Given the description of an element on the screen output the (x, y) to click on. 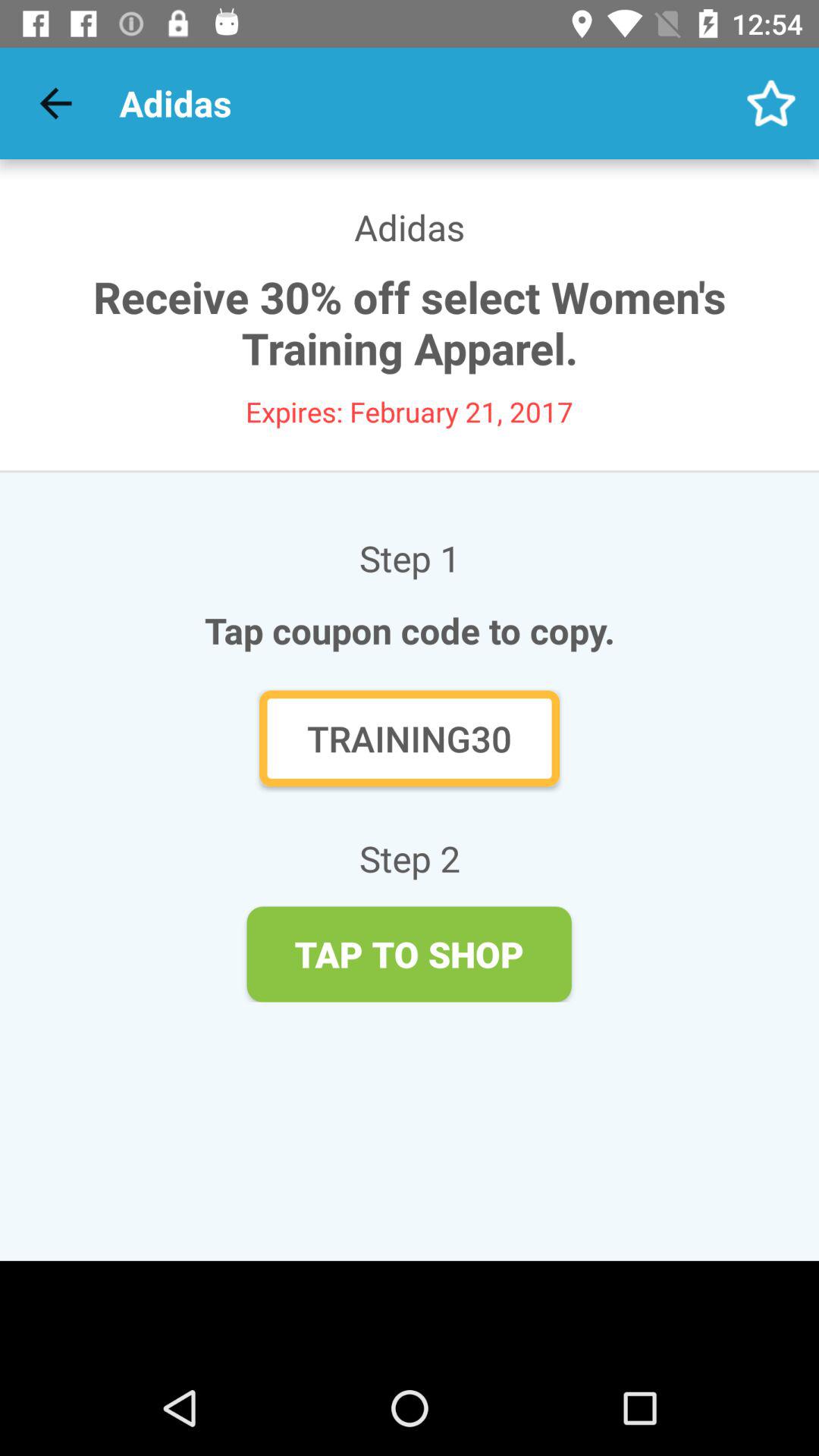
jump until training30 (409, 738)
